Given the description of an element on the screen output the (x, y) to click on. 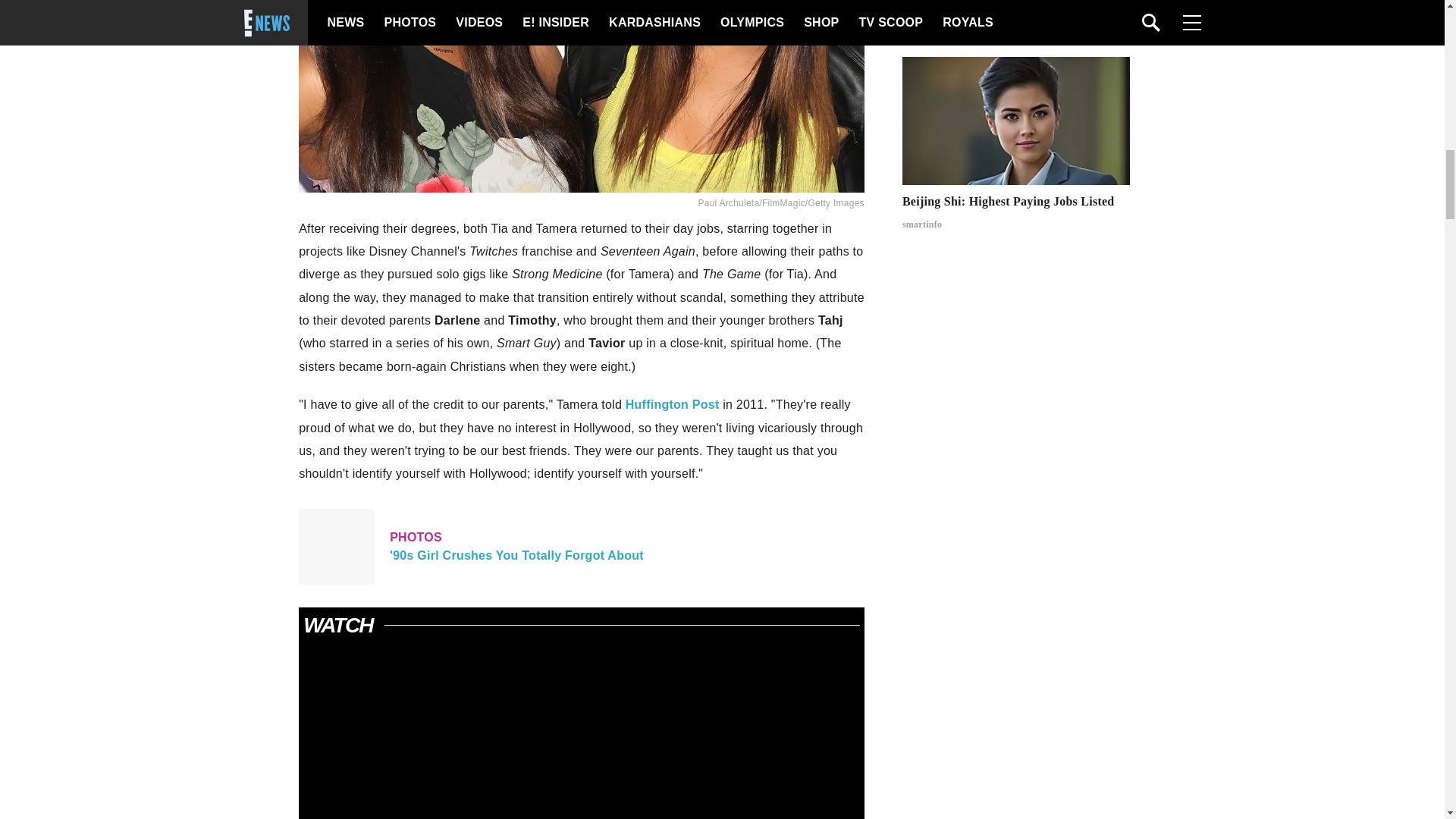
Must watch - top videos player (581, 734)
Huffington Post (672, 404)
